Given the description of an element on the screen output the (x, y) to click on. 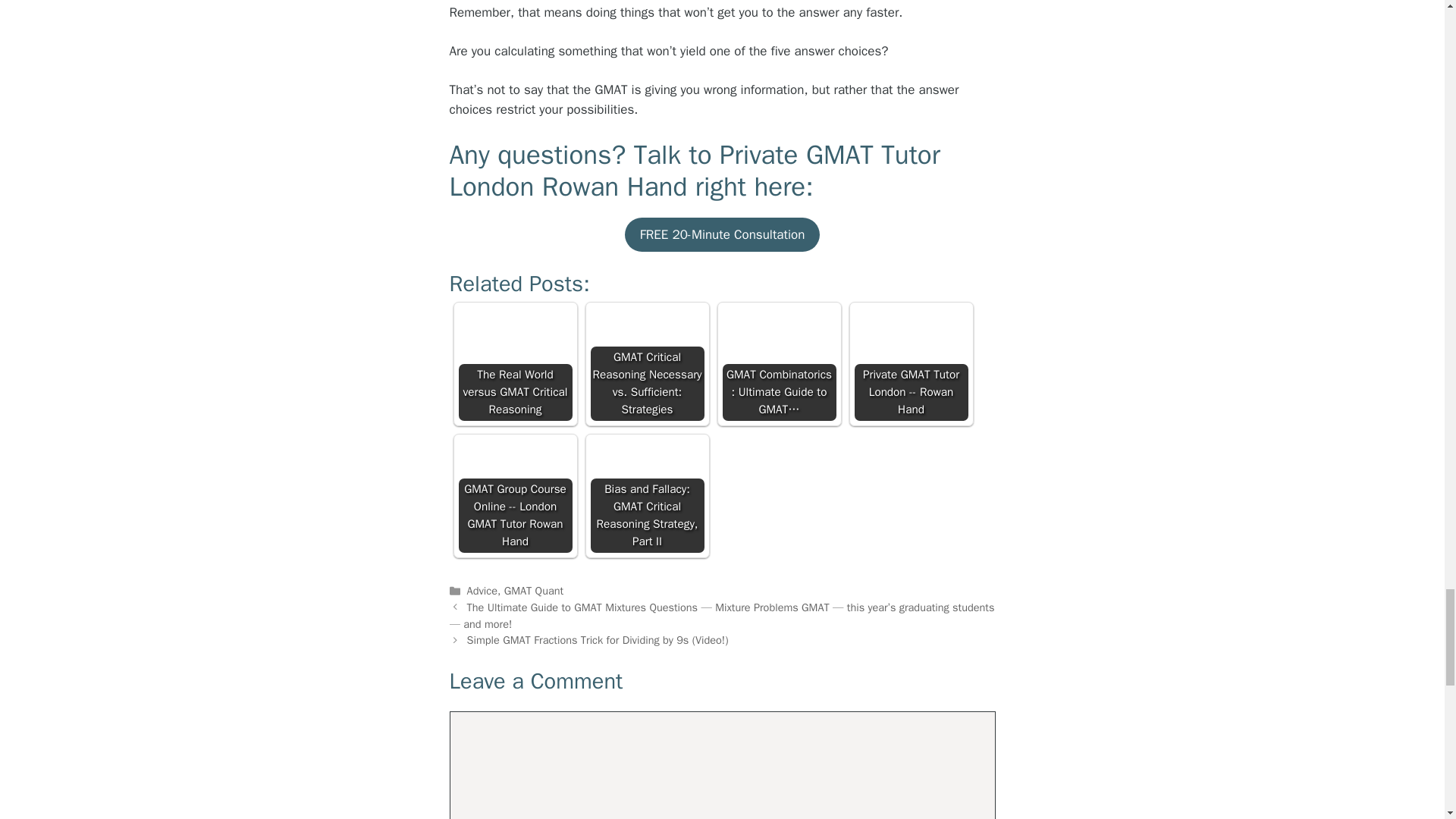
Rowan Hand (614, 186)
Private GMAT Tutor London -- Rowan Hand (910, 363)
Private GMAT Tutor London (693, 170)
GMAT Quant (533, 590)
Bias and Fallacy: GMAT Critical Reasoning Strategy, Part II (646, 495)
Previous (721, 615)
GMAT Critical Reasoning Necessary vs. Sufficient: Strategies (646, 363)
Advice (482, 590)
The Real World versus GMAT Critical Reasoning (515, 363)
FREE 20-Minute Consultation (722, 234)
Next (598, 640)
GMAT Group Course Online -- London GMAT Tutor Rowan Hand (515, 495)
